Given the description of an element on the screen output the (x, y) to click on. 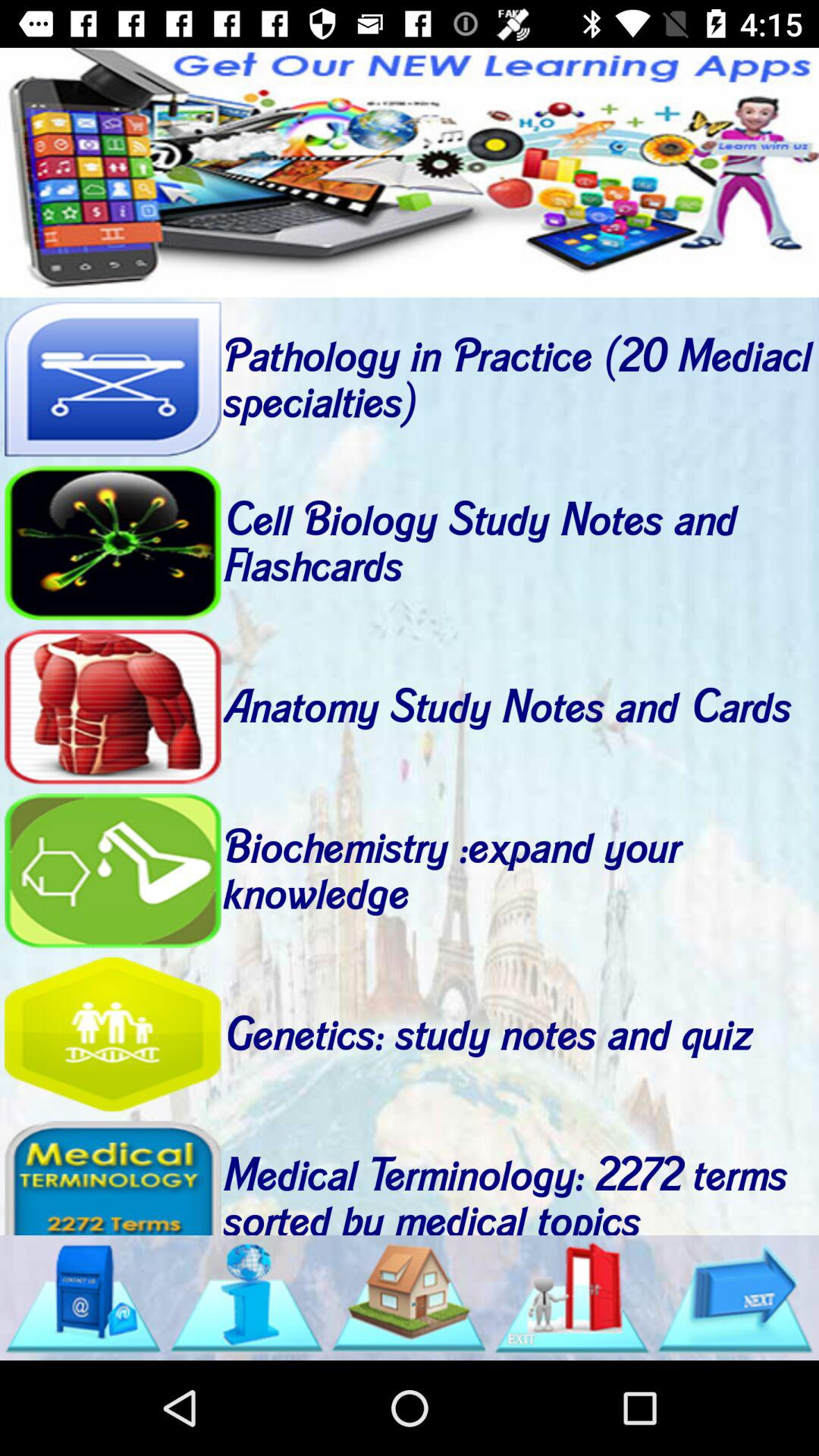
anatomy study notes and cards (112, 706)
